Given the description of an element on the screen output the (x, y) to click on. 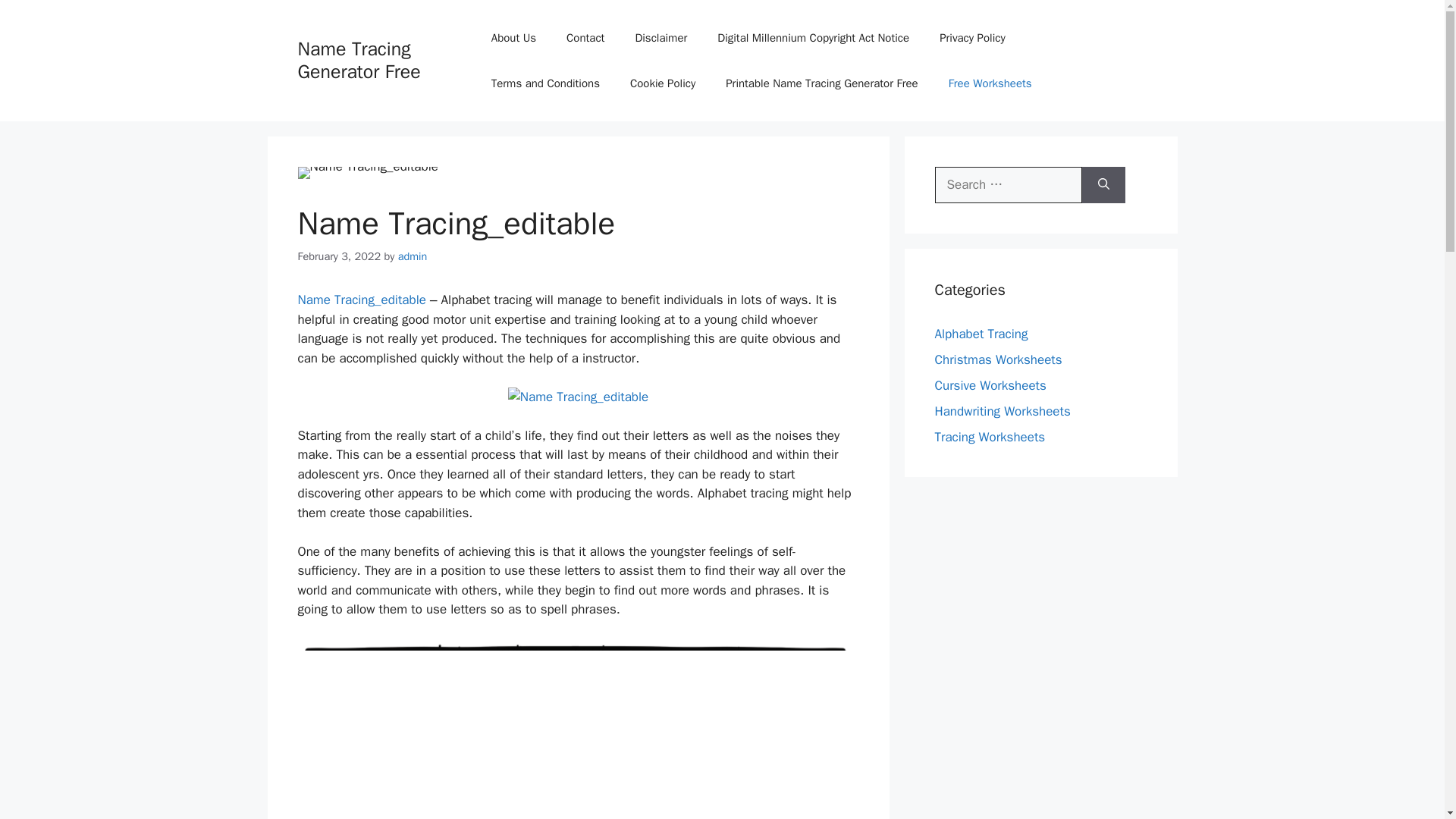
Alphabet Tracing (980, 333)
Printable Name Tracing Generator Free (821, 83)
Disclaimer (660, 37)
Digital Millennium Copyright Act Notice (812, 37)
Contact (585, 37)
Search for: (1007, 185)
Handwriting Worksheets (1002, 411)
Free Worksheets (989, 83)
Privacy Policy (972, 37)
About Us (513, 37)
Cursive Worksheets (989, 385)
Name Tracing Generator Free (358, 59)
View all posts by admin (412, 255)
Terms and Conditions (545, 83)
Cookie Policy (662, 83)
